Given the description of an element on the screen output the (x, y) to click on. 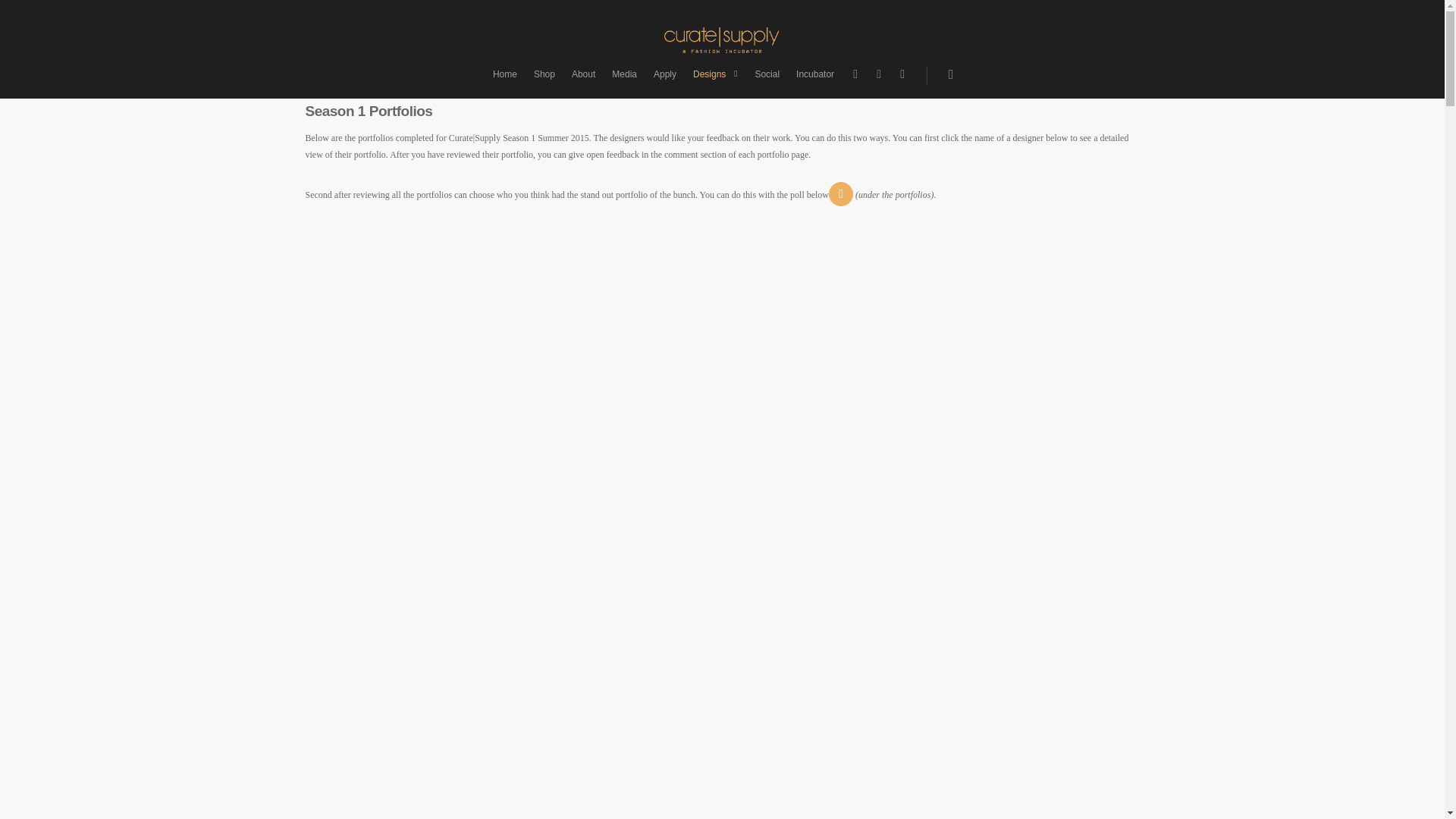
Apply (665, 81)
Incubator (815, 81)
Home (504, 81)
Social (766, 81)
Designs (715, 81)
About (583, 81)
Media (624, 81)
Shop (543, 81)
